Given the description of an element on the screen output the (x, y) to click on. 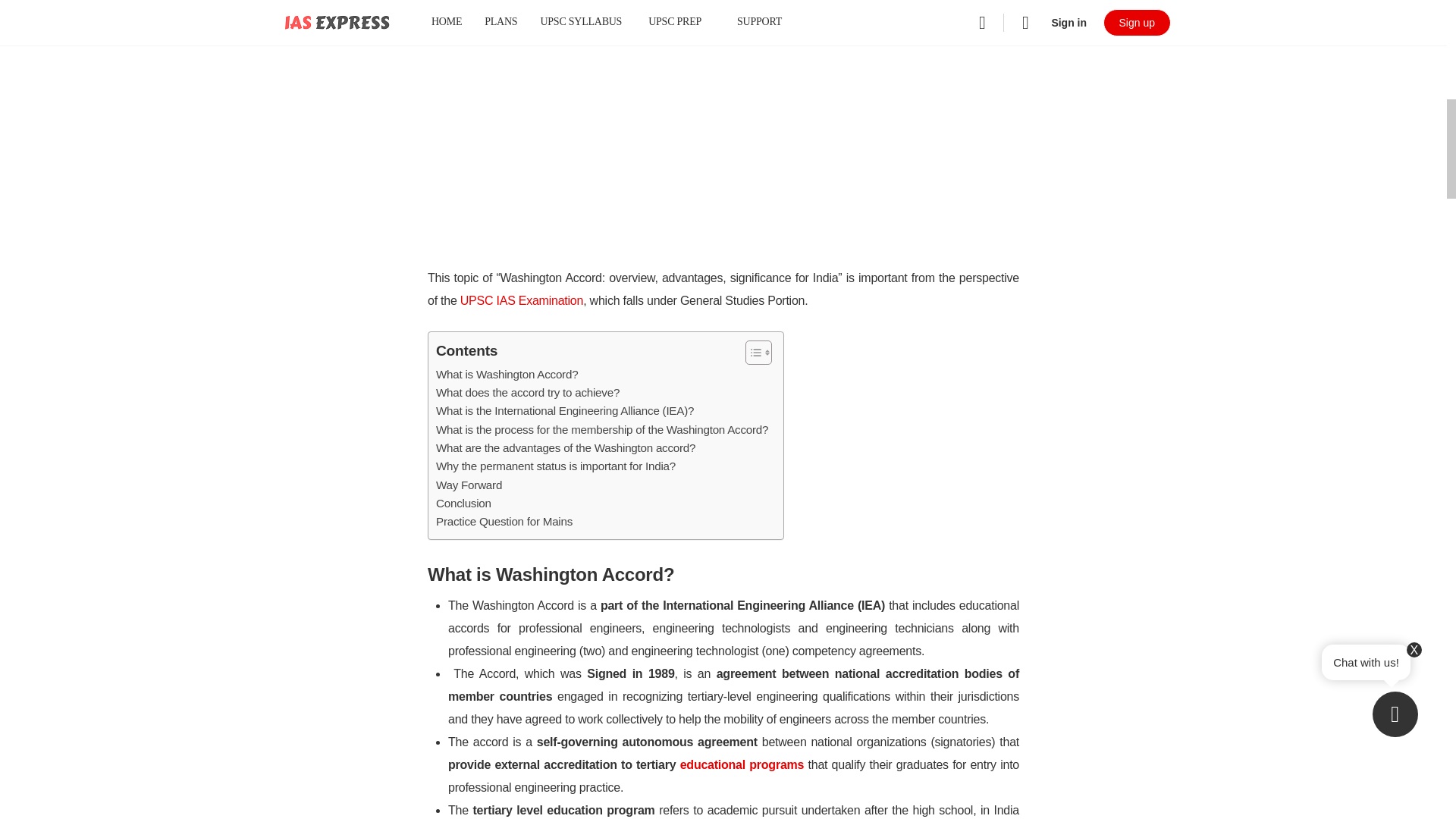
What are the advantages of the Washington accord? (565, 447)
Why the permanent status is important for India? (555, 466)
Practice Question for Mains (503, 521)
What does the accord try to achieve? (527, 393)
Conclusion (463, 503)
What is Washington Accord? (506, 374)
Way Forward (468, 484)
